Given the description of an element on the screen output the (x, y) to click on. 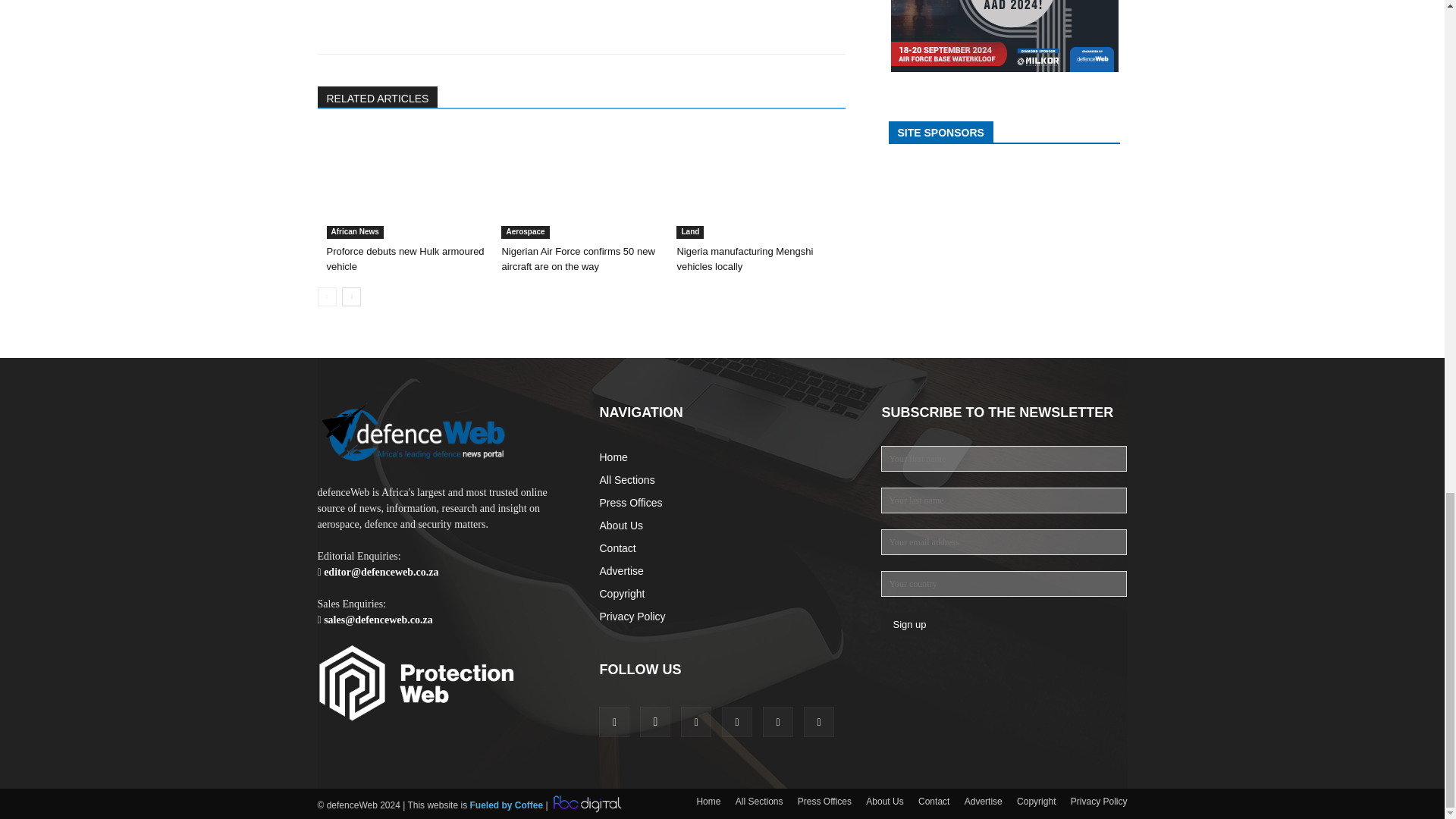
Sign up (908, 624)
